Given the description of an element on the screen output the (x, y) to click on. 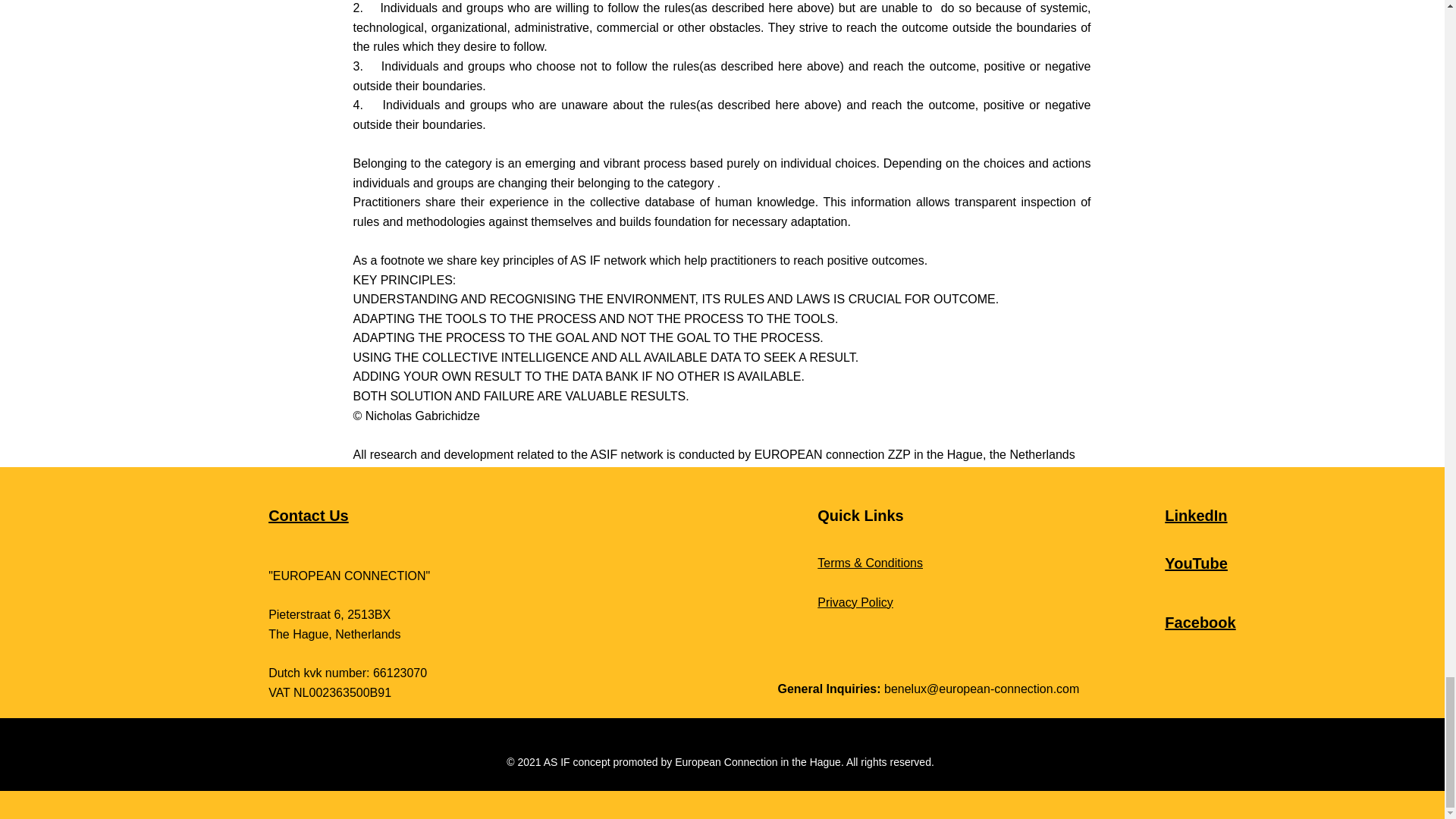
Contact Us (308, 515)
Facebook (1199, 622)
Privacy Policy (854, 602)
YouTube (1195, 563)
LinkedIn (1195, 515)
